Given the description of an element on the screen output the (x, y) to click on. 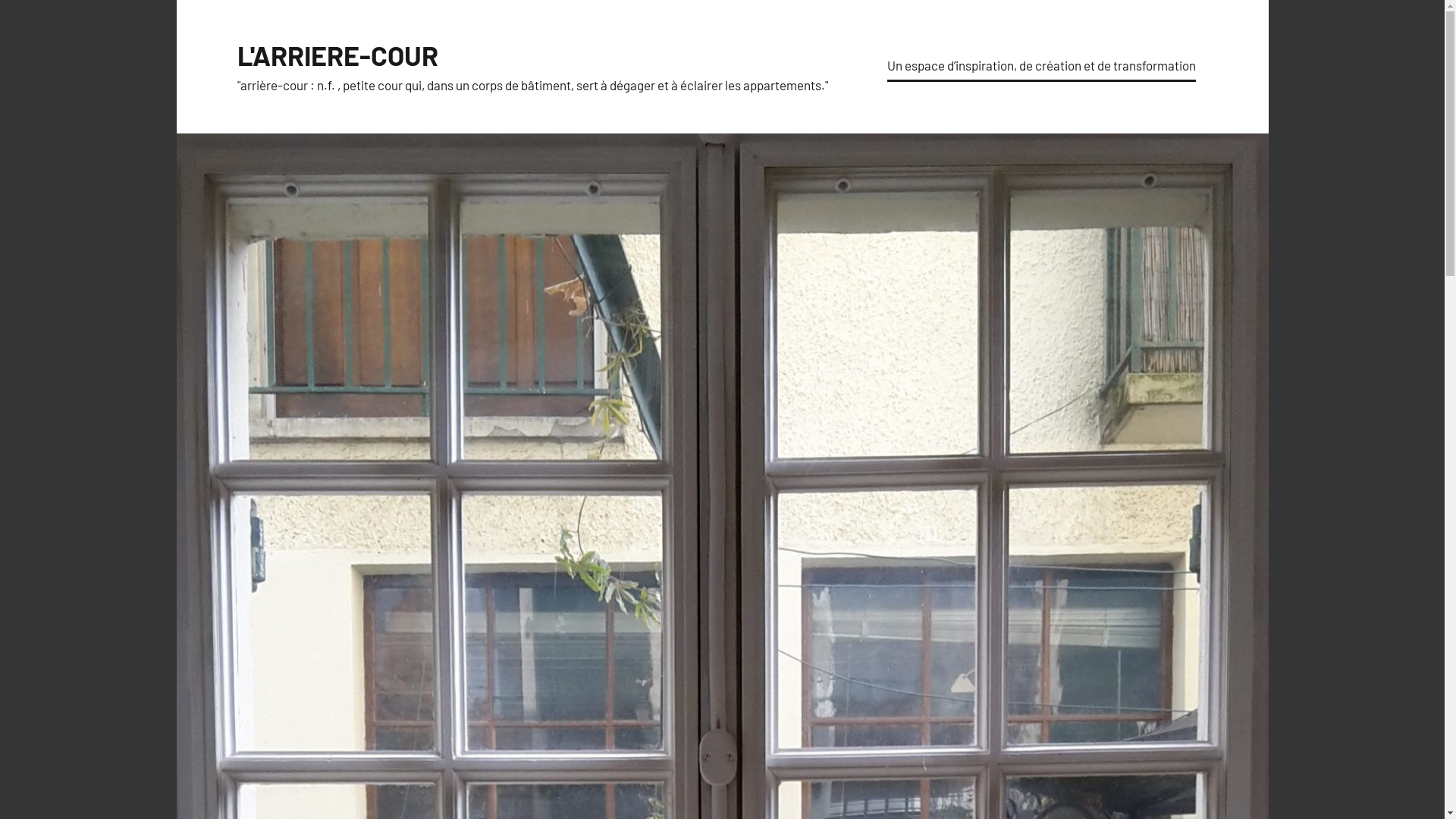
L'ARRIERE-COUR Element type: text (336, 54)
